Given the description of an element on the screen output the (x, y) to click on. 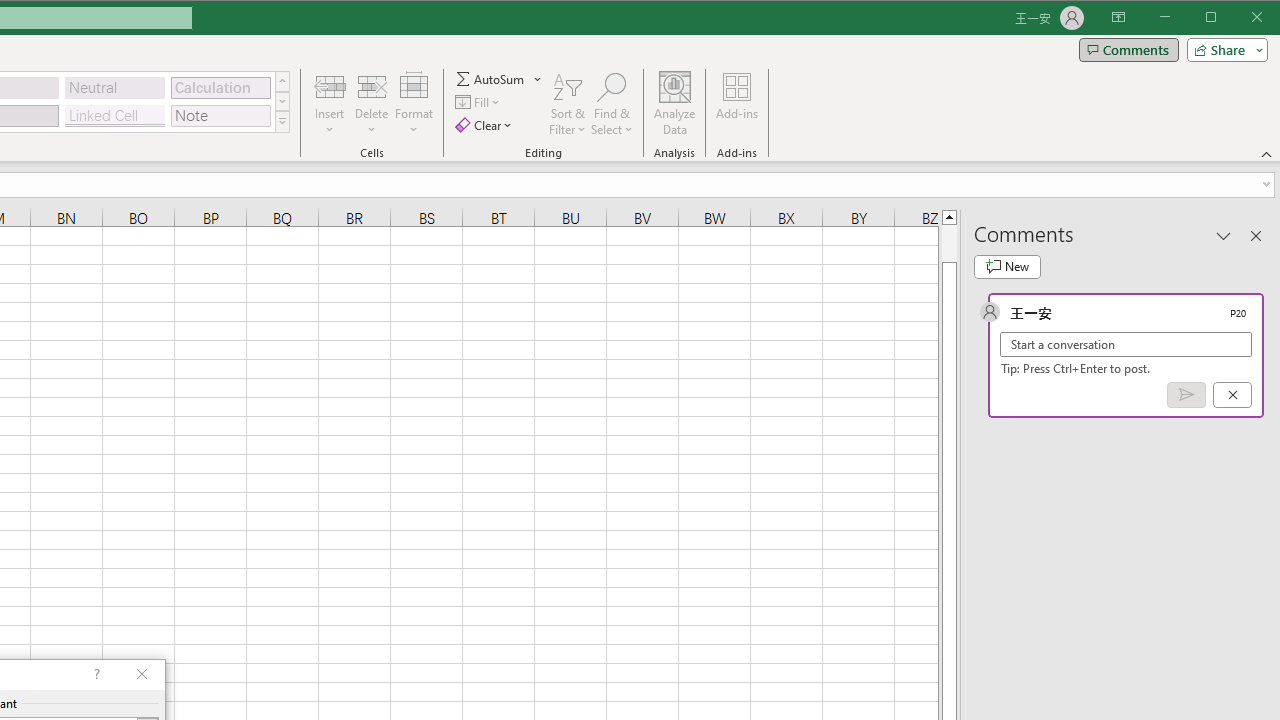
Maximize (1239, 18)
Page up (948, 243)
Neutral (114, 88)
Sum (491, 78)
Insert Cells (329, 86)
Fill (478, 101)
Sort & Filter (567, 104)
Calculation (220, 88)
Format (414, 104)
